Given the description of an element on the screen output the (x, y) to click on. 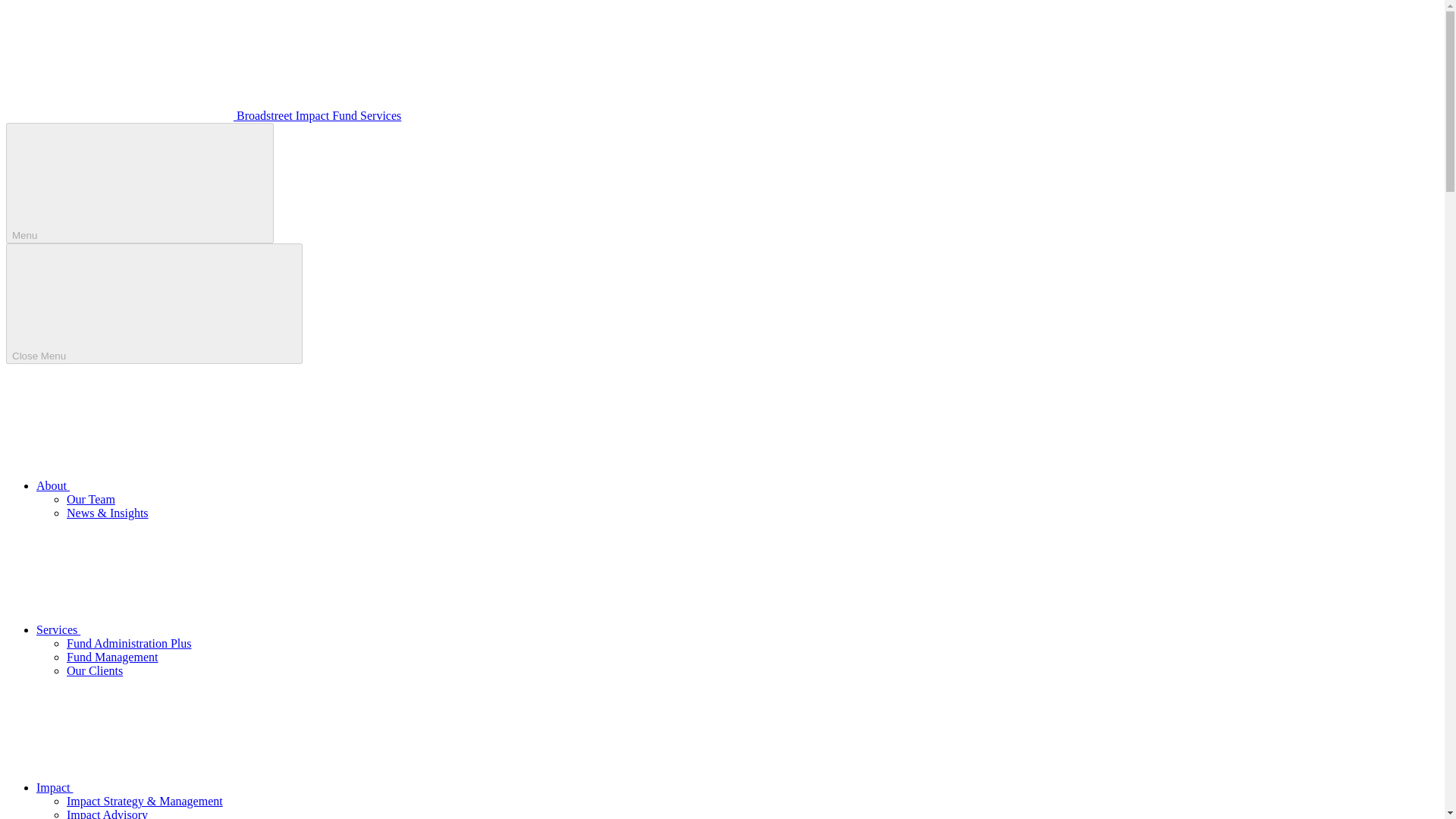
Our Team (90, 499)
Our Clients (94, 670)
Menu (139, 182)
About (166, 485)
Services (171, 629)
Close Menu (153, 303)
Impact Advisory (107, 813)
Broadstreet Impact Fund Services (203, 115)
Impact (167, 787)
Fund Management (111, 656)
Fund Administration Plus (128, 643)
